Given the description of an element on the screen output the (x, y) to click on. 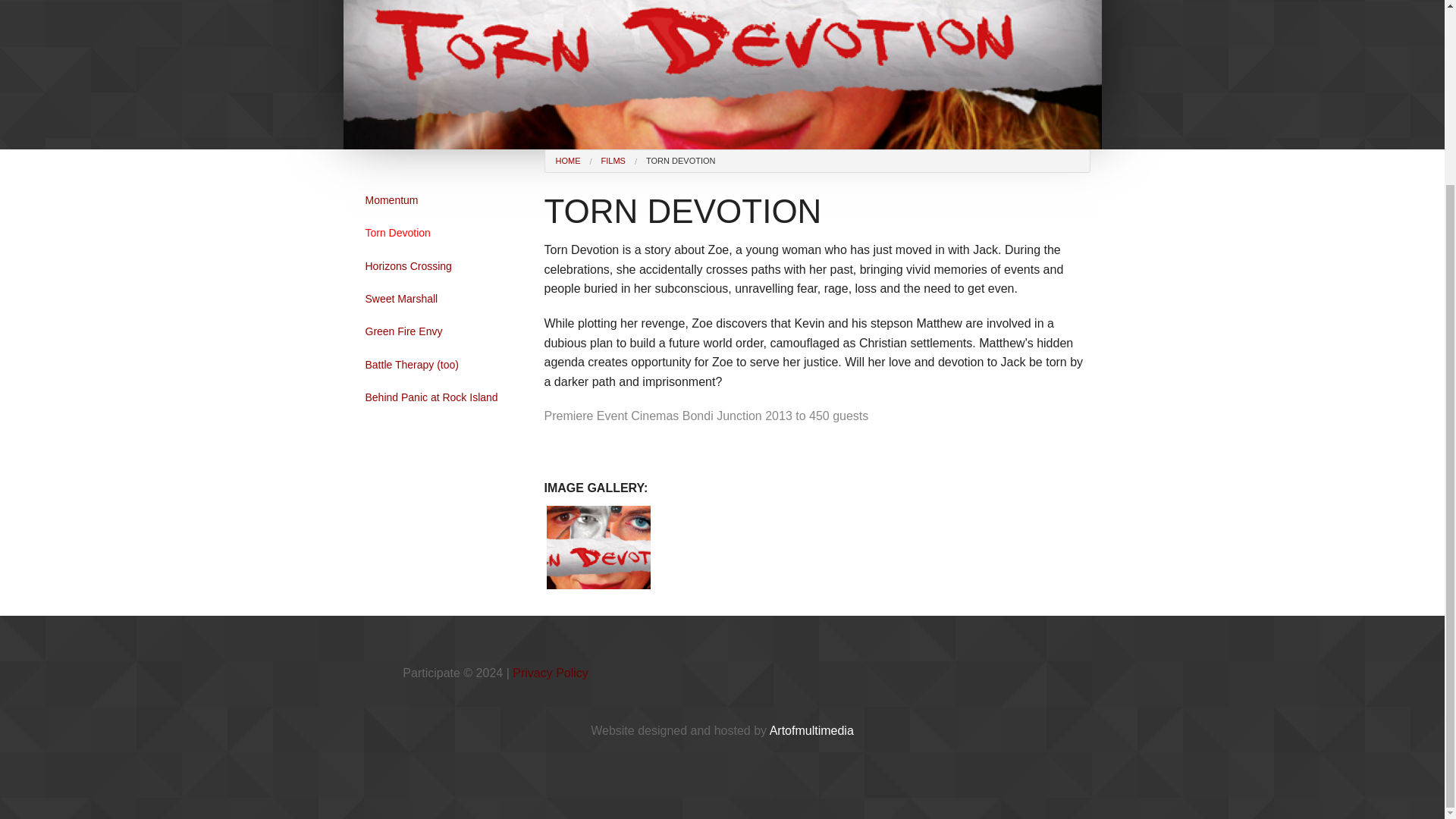
Torn Devotion (438, 232)
Torn Devotion (438, 232)
Artofmultimedia (811, 730)
HOME (566, 160)
Green Fire Envy (438, 330)
Behind Panic at Rock Island (438, 397)
Horizons Crossing (438, 266)
Momentum (438, 199)
Sweet Marshall (438, 298)
Horizons Crossing (438, 266)
TORN DEVOTION (680, 160)
Sweet Marshall (438, 298)
Momentum (438, 199)
FILMS (613, 160)
Privacy Policy (550, 672)
